Given the description of an element on the screen output the (x, y) to click on. 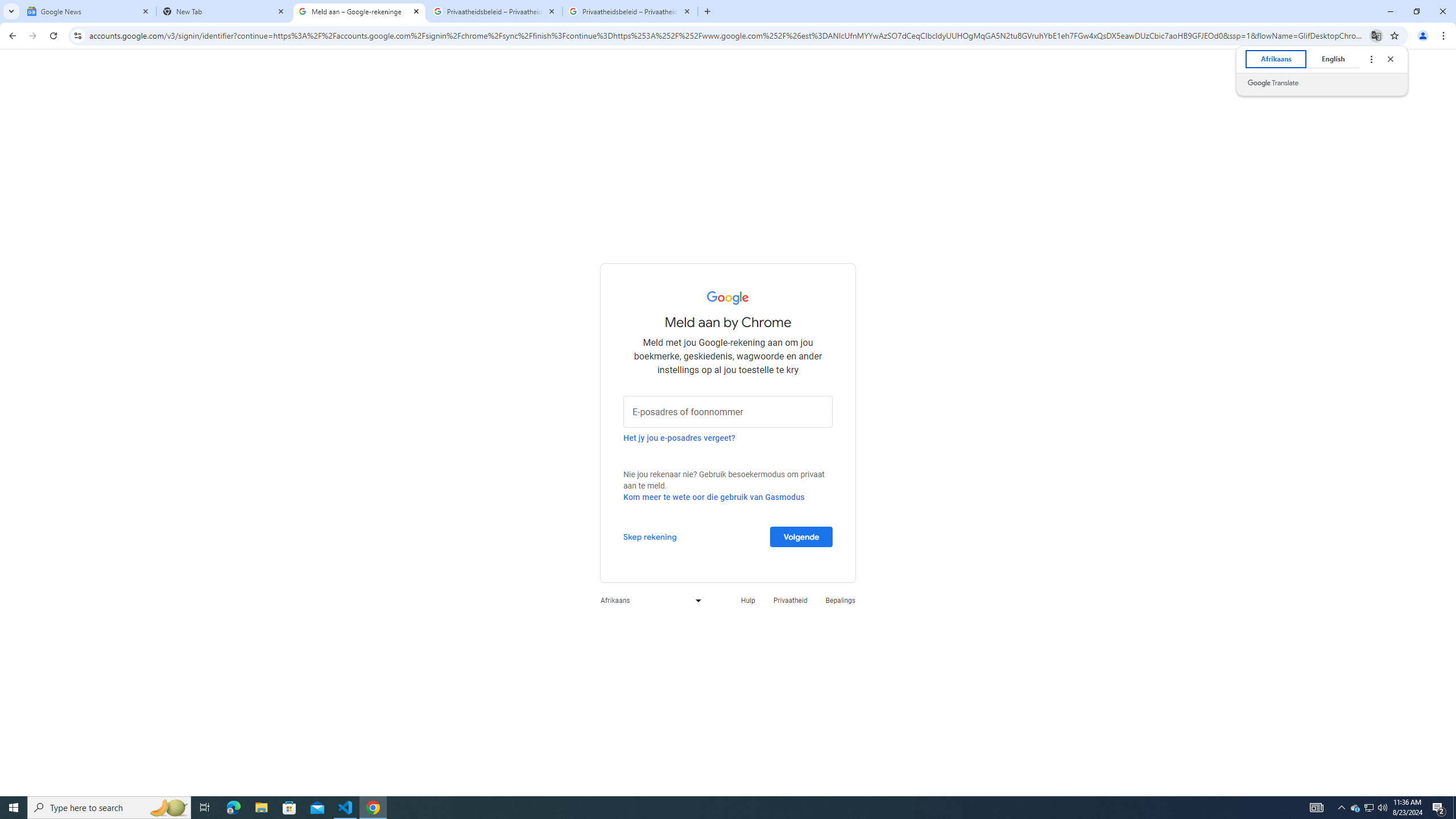
Kom meer te wete oor die gebruik van Gasmodus (713, 497)
Translate options (1370, 58)
Show desktop (1454, 807)
Volgende (801, 536)
Afrikaans (647, 600)
Translate this page (1376, 35)
Privaatheid (790, 600)
Action Center, 2 new notifications (1439, 807)
Google News (88, 11)
E-posadres of foonnommer (727, 411)
New Tab (1355, 807)
Hulp (224, 11)
